Given the description of an element on the screen output the (x, y) to click on. 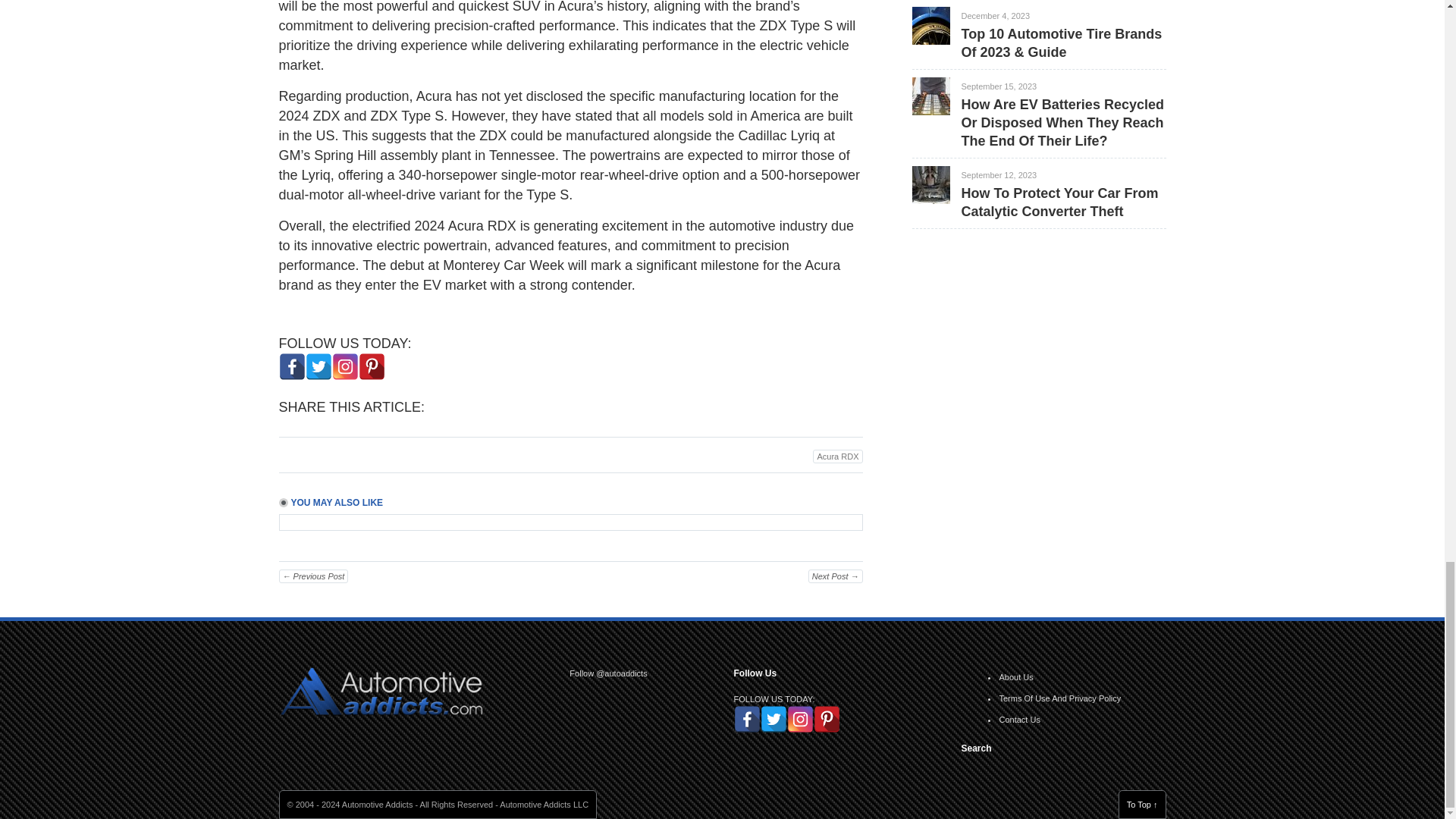
Instagram (344, 366)
Pinterest (371, 366)
Facebook (292, 366)
Twitter (317, 366)
